Given the description of an element on the screen output the (x, y) to click on. 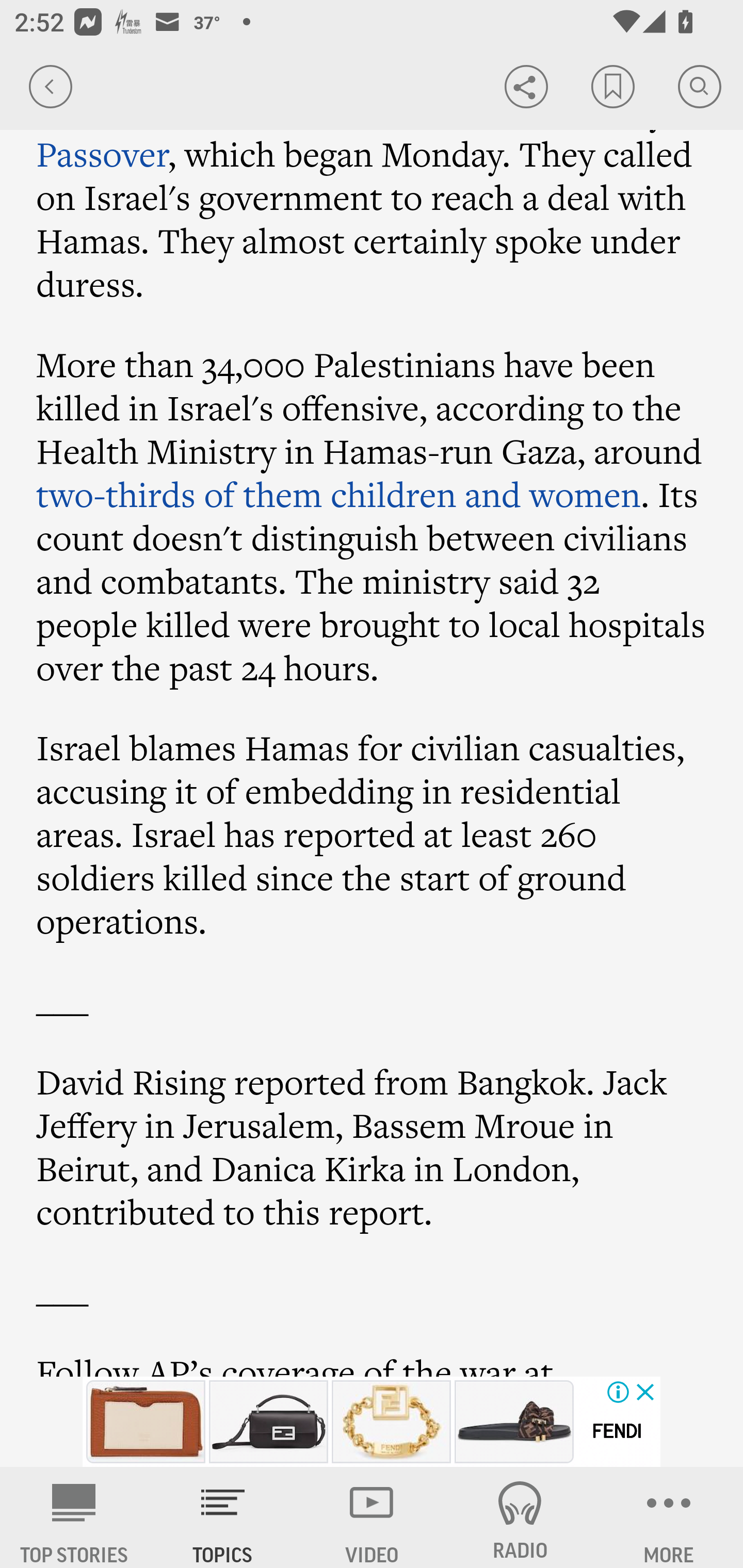
Passover (102, 152)
two-thirds of them children and women (338, 494)
fendi-feel-brown-satin-slides-8x8142ae7sf0r7v (513, 1420)
AP News TOP STORIES (74, 1517)
TOPICS (222, 1517)
VIDEO (371, 1517)
RADIO (519, 1517)
MORE (668, 1517)
